Given the description of an element on the screen output the (x, y) to click on. 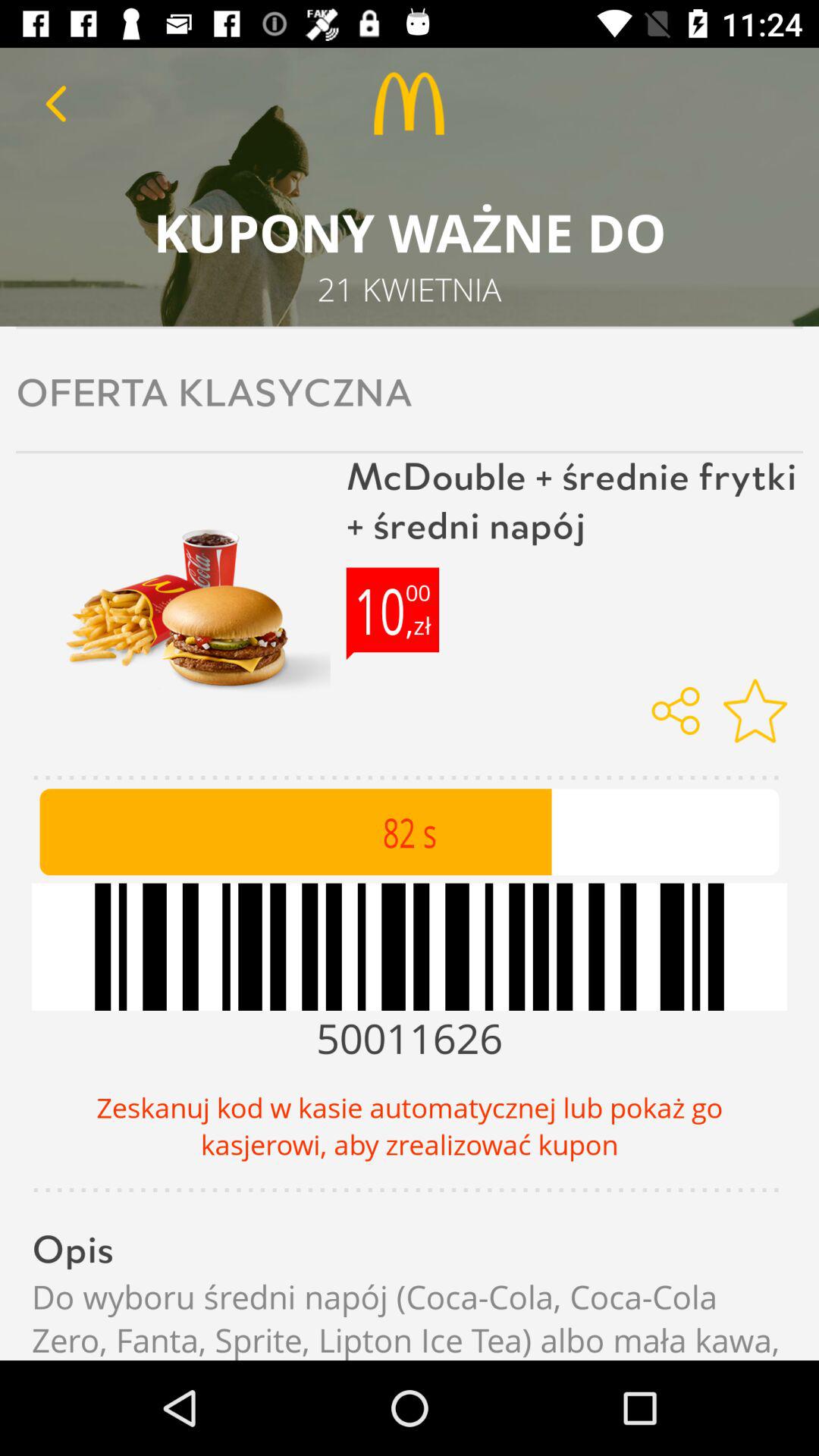
mark as favorite (755, 710)
